Given the description of an element on the screen output the (x, y) to click on. 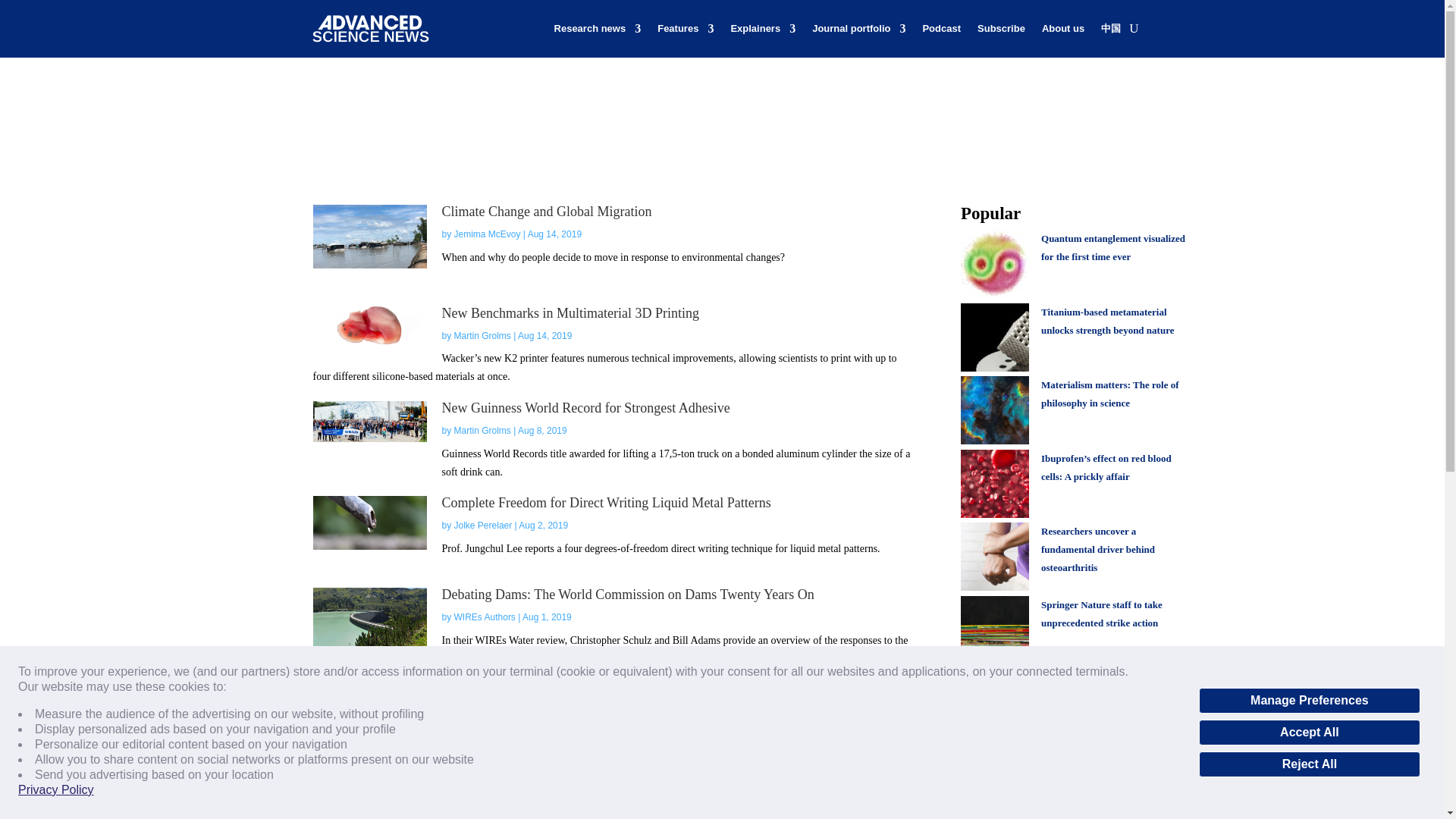
Posts by WIREs Authors (484, 816)
Posts by Jemima McEvoy (487, 234)
Posts by Jolke Perelaer (483, 525)
Posts by WIREs Authors (484, 717)
Privacy Policy (55, 789)
Features (685, 28)
Accept All (1309, 732)
Research news (598, 28)
Explainers (762, 28)
Posts by Martin Grolms (482, 335)
